Given the description of an element on the screen output the (x, y) to click on. 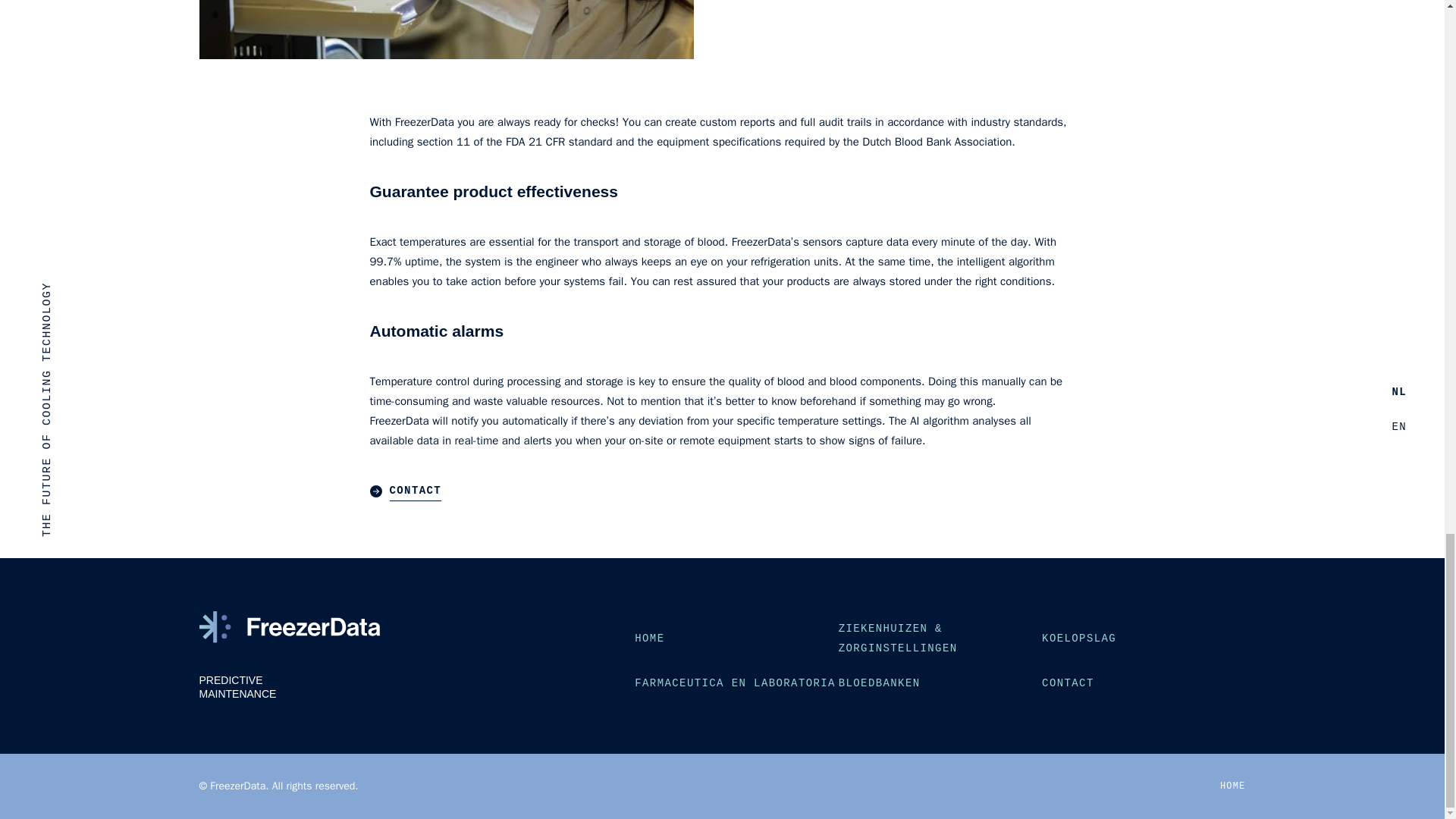
HOME (1233, 786)
BLOEDBANKEN (879, 682)
FARMACEUTICA EN LABORATORIA (734, 682)
CONTACT (1068, 682)
CONTACT (722, 490)
KOELOPSLAG (1079, 638)
HOME (648, 638)
